Given the description of an element on the screen output the (x, y) to click on. 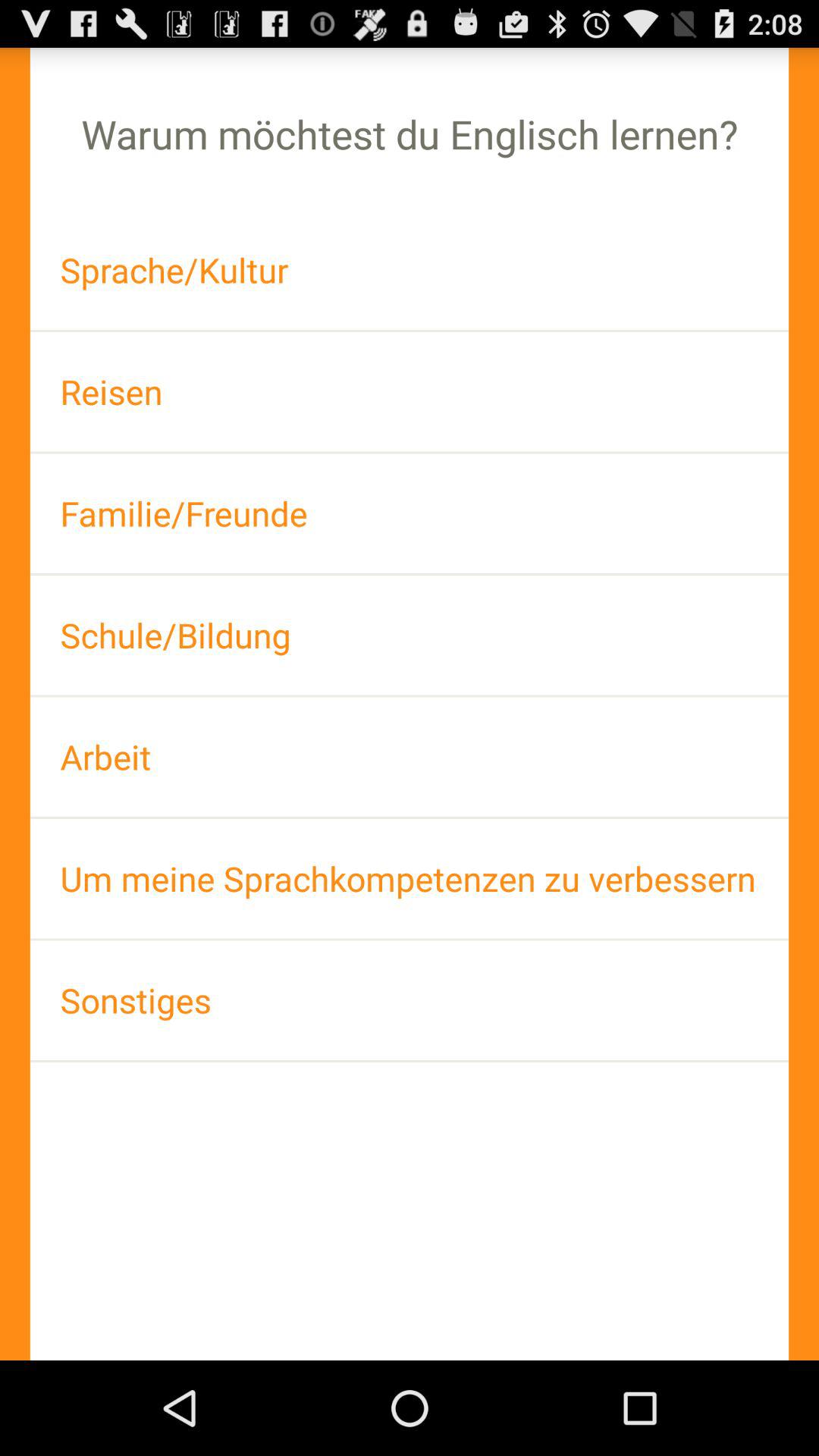
open icon below the arbeit icon (409, 878)
